Given the description of an element on the screen output the (x, y) to click on. 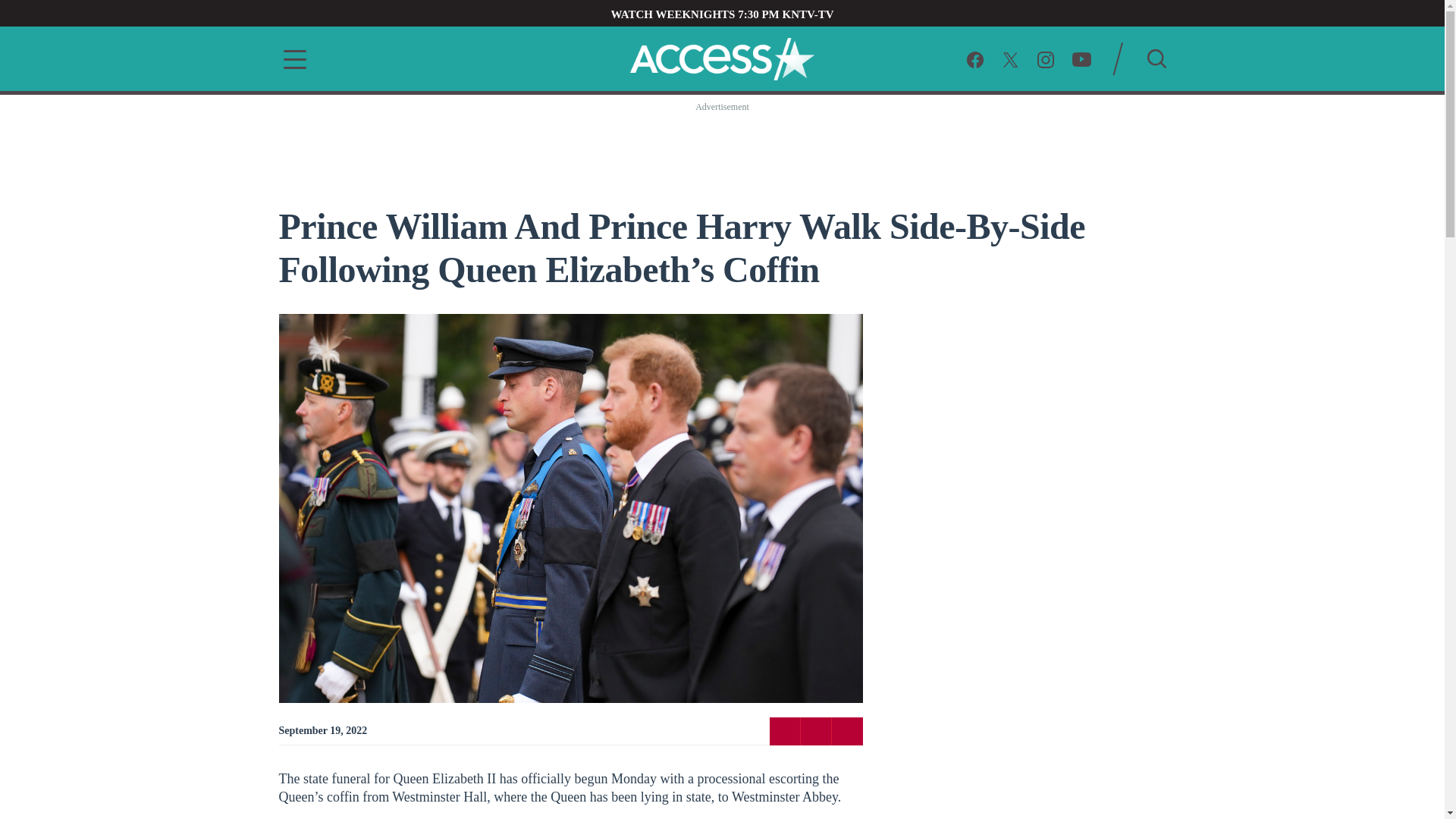
SEARCH (1156, 58)
Twitter (815, 730)
Instagram (1045, 58)
Main navigation (290, 59)
Facebook (783, 730)
Facebook (975, 58)
Copy URL (846, 730)
Twitter (1010, 58)
Youtube (1080, 58)
